Given the description of an element on the screen output the (x, y) to click on. 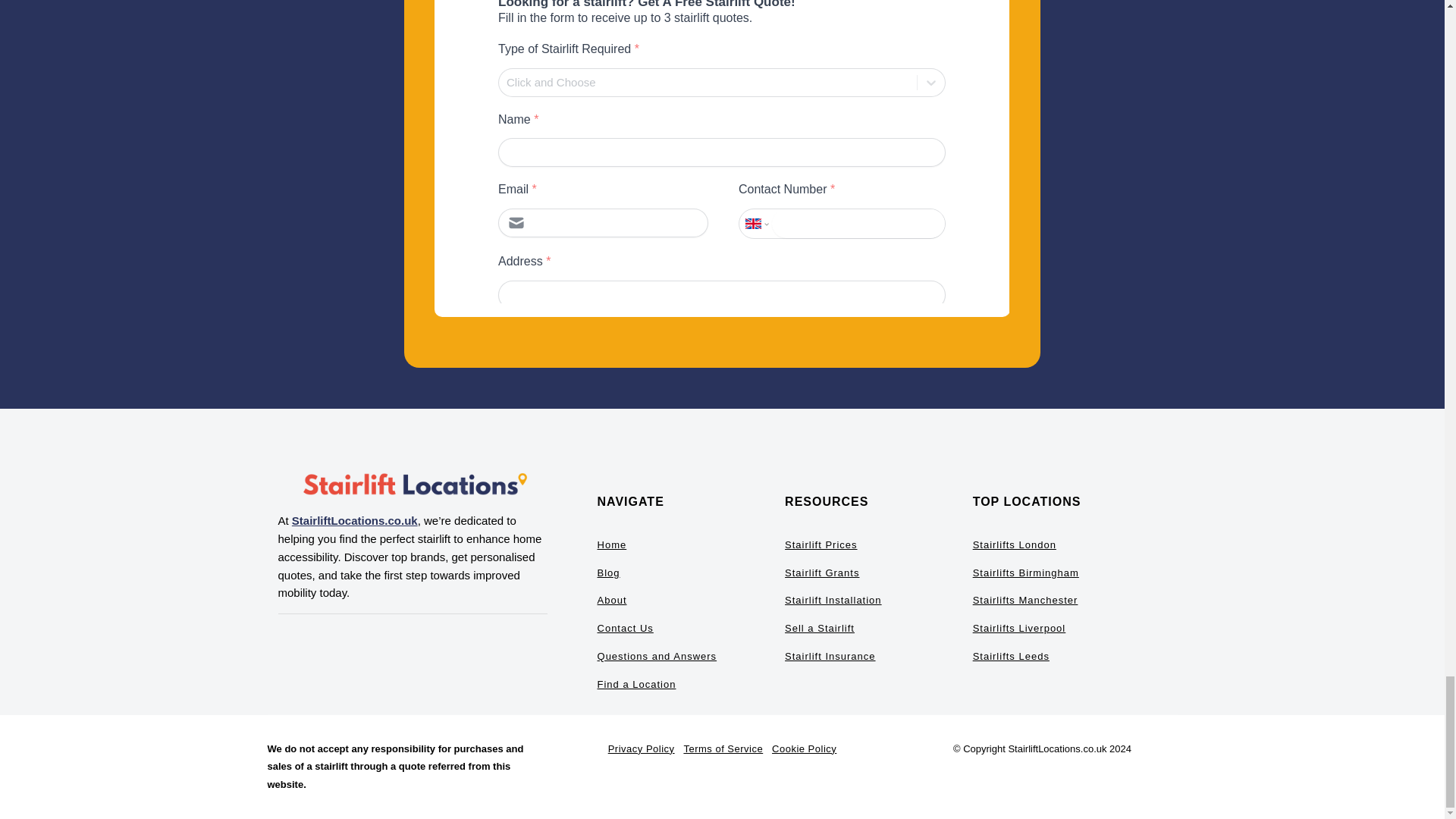
stairlift locations (412, 485)
